Given the description of an element on the screen output the (x, y) to click on. 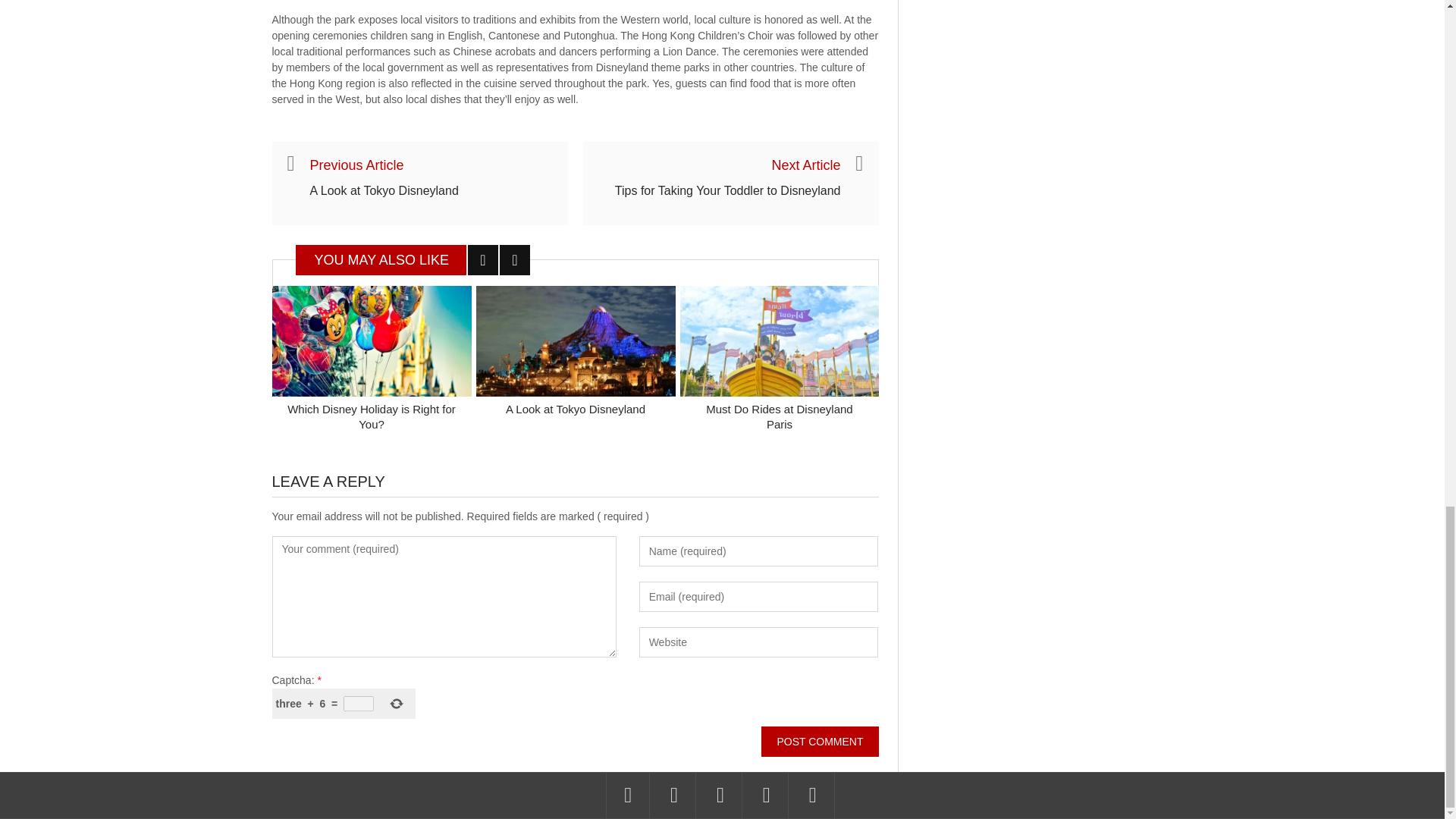
A Look at Tokyo Disneyland (575, 408)
A Look at Tokyo Disneyland (383, 190)
Which Disney Holiday is Right for You? (370, 416)
Previous Article (355, 165)
Post Comment (819, 741)
Next Article (805, 165)
Tips for Taking Your Toddler to Disneyland (727, 190)
Post Comment (819, 741)
Must Do Rides at Disneyland Paris (778, 416)
